Given the description of an element on the screen output the (x, y) to click on. 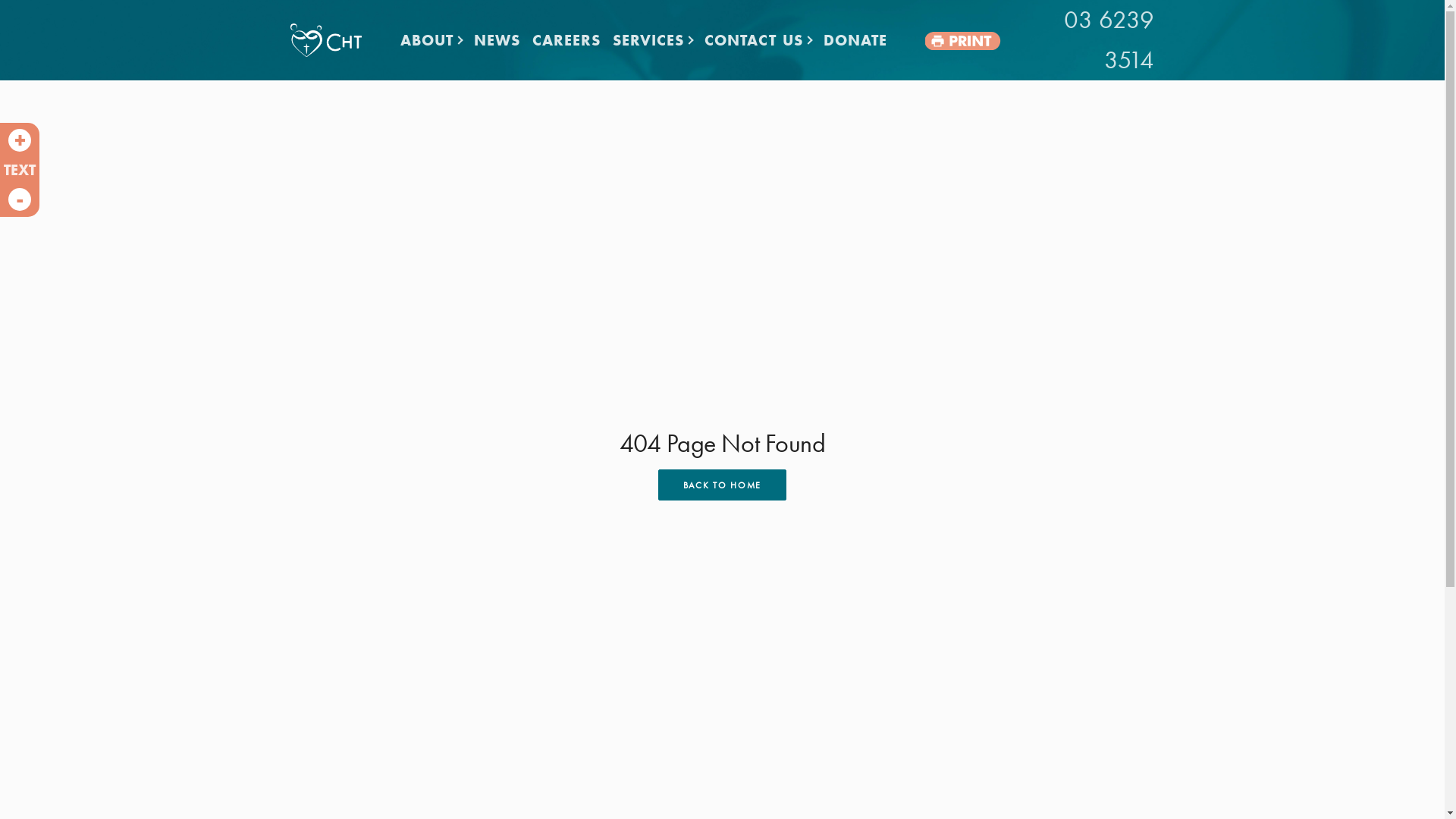
BACK TO HOME Element type: text (722, 484)
ABOUT Element type: text (430, 39)
CONTACT US Element type: text (757, 39)
03 6239 3514 Element type: text (1082, 40)
NEWS Element type: text (496, 39)
DONATE Element type: text (855, 39)
SERVICES Element type: text (652, 39)
CAREERS Element type: text (566, 39)
